Given the description of an element on the screen output the (x, y) to click on. 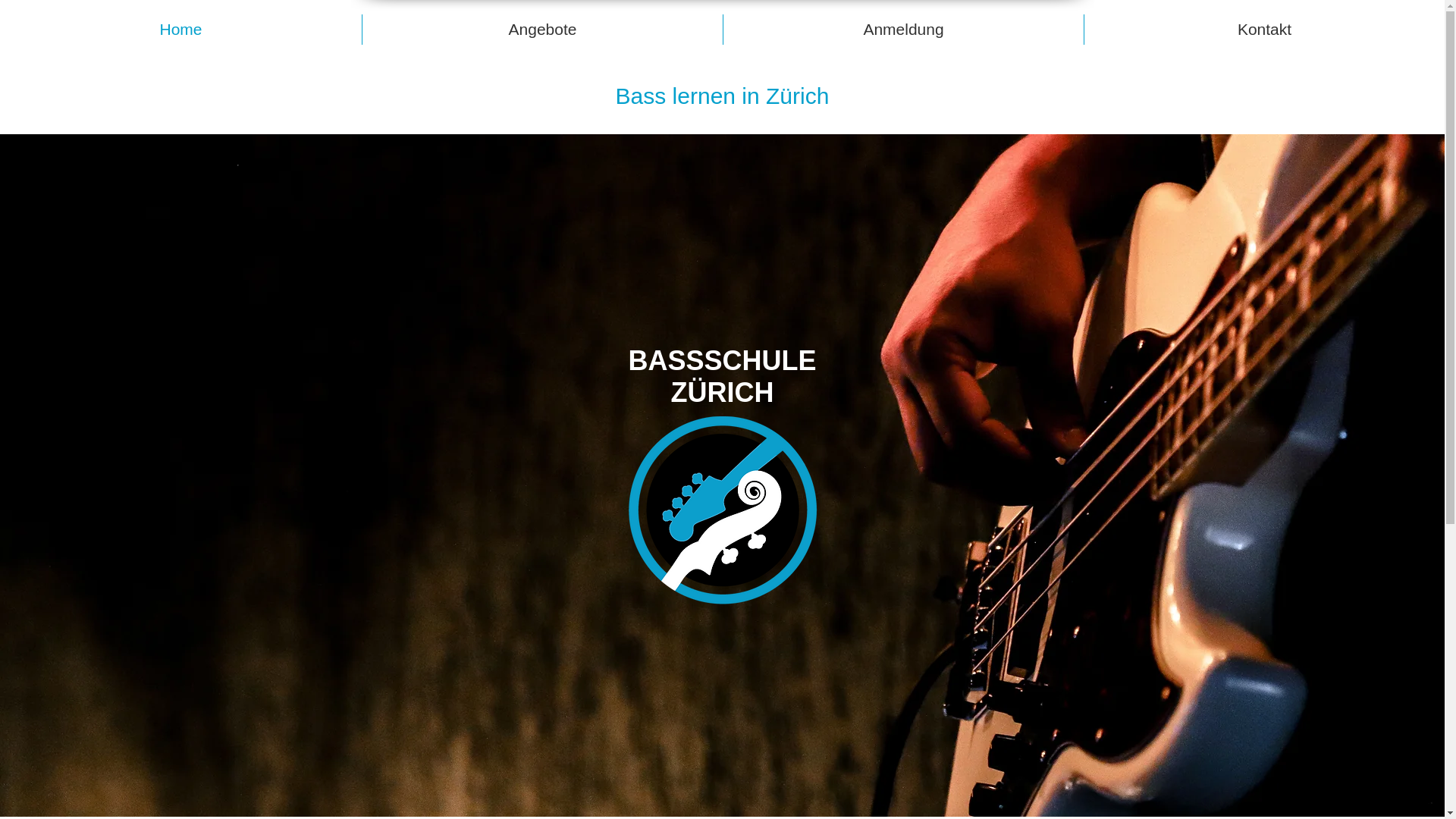
Anmeldung Element type: text (903, 29)
Lerne jetzt Bass. Wir bieten eine gratis Probelektion. Element type: hover (722, 510)
Kontakt Element type: text (1264, 29)
Angebote Element type: text (542, 29)
Home Element type: text (180, 29)
